Given the description of an element on the screen output the (x, y) to click on. 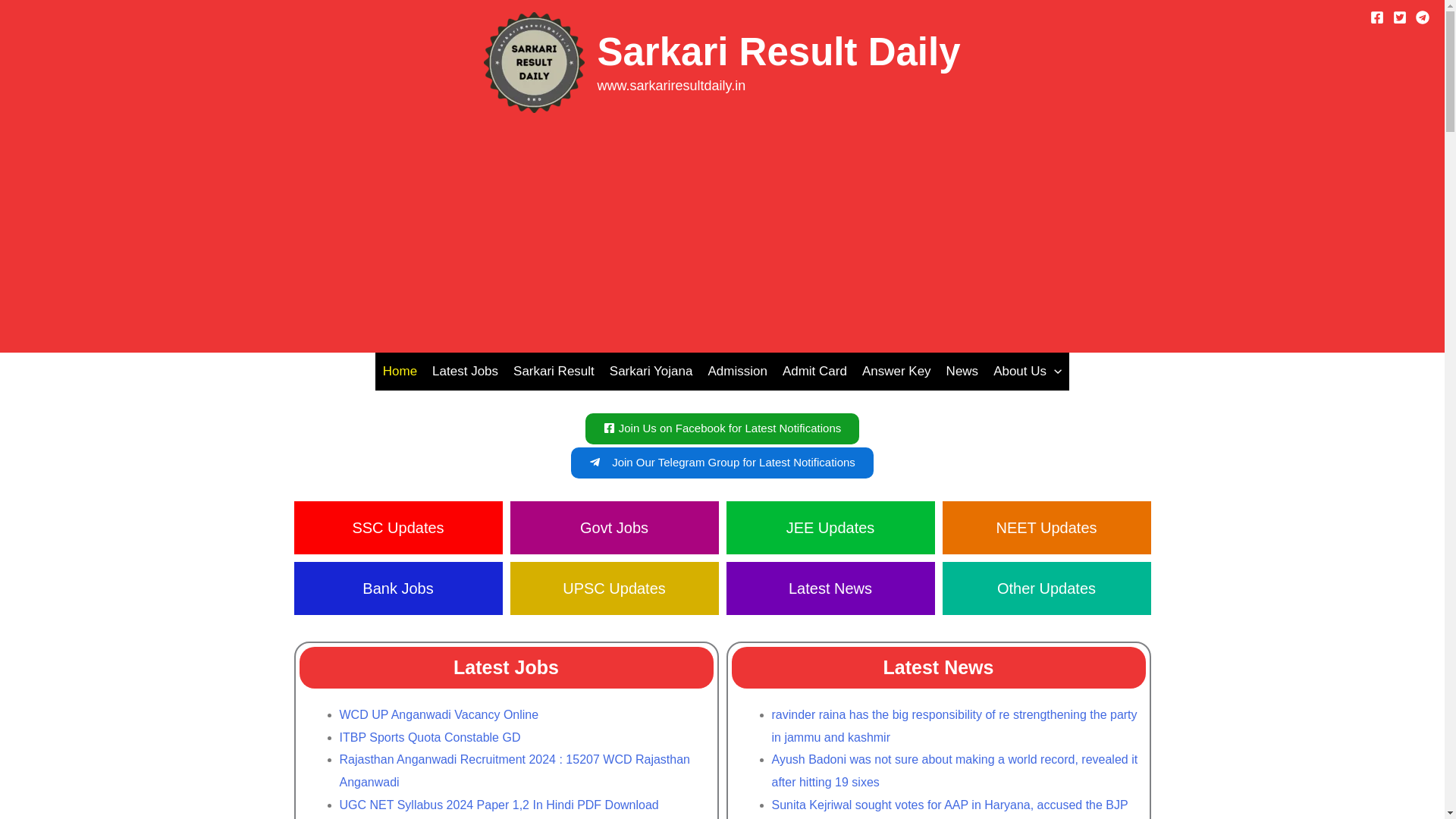
Latest Jobs (465, 371)
Admission (737, 371)
Sarkari Result Daily (777, 51)
Answer Key (896, 371)
Sarkari Result (553, 371)
News (963, 371)
Sarkari Yojana (651, 371)
Home (400, 371)
Admit Card (814, 371)
